Given the description of an element on the screen output the (x, y) to click on. 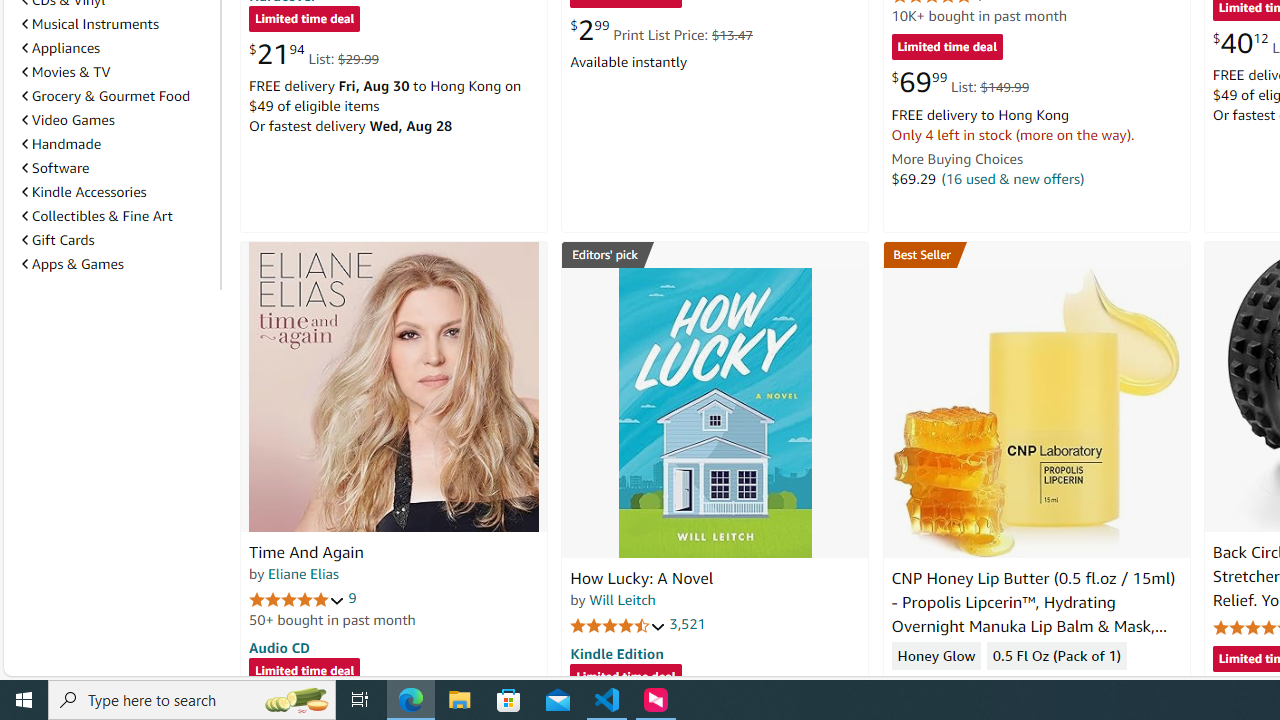
Kindle Edition (616, 653)
Video Games (117, 120)
Best Seller in Lip Butters (1036, 254)
Movies & TV (66, 71)
(16 used & new offers) (1012, 178)
9 (352, 597)
Apps & Games (117, 264)
$21.94 List: $29.99 (314, 54)
Kindle Accessories (84, 191)
Handmade (61, 143)
Time And Again (393, 386)
$69.99 List: $149.99 (960, 82)
Editors' pick Best Mystery, Thriller & Suspense (715, 254)
